Given the description of an element on the screen output the (x, y) to click on. 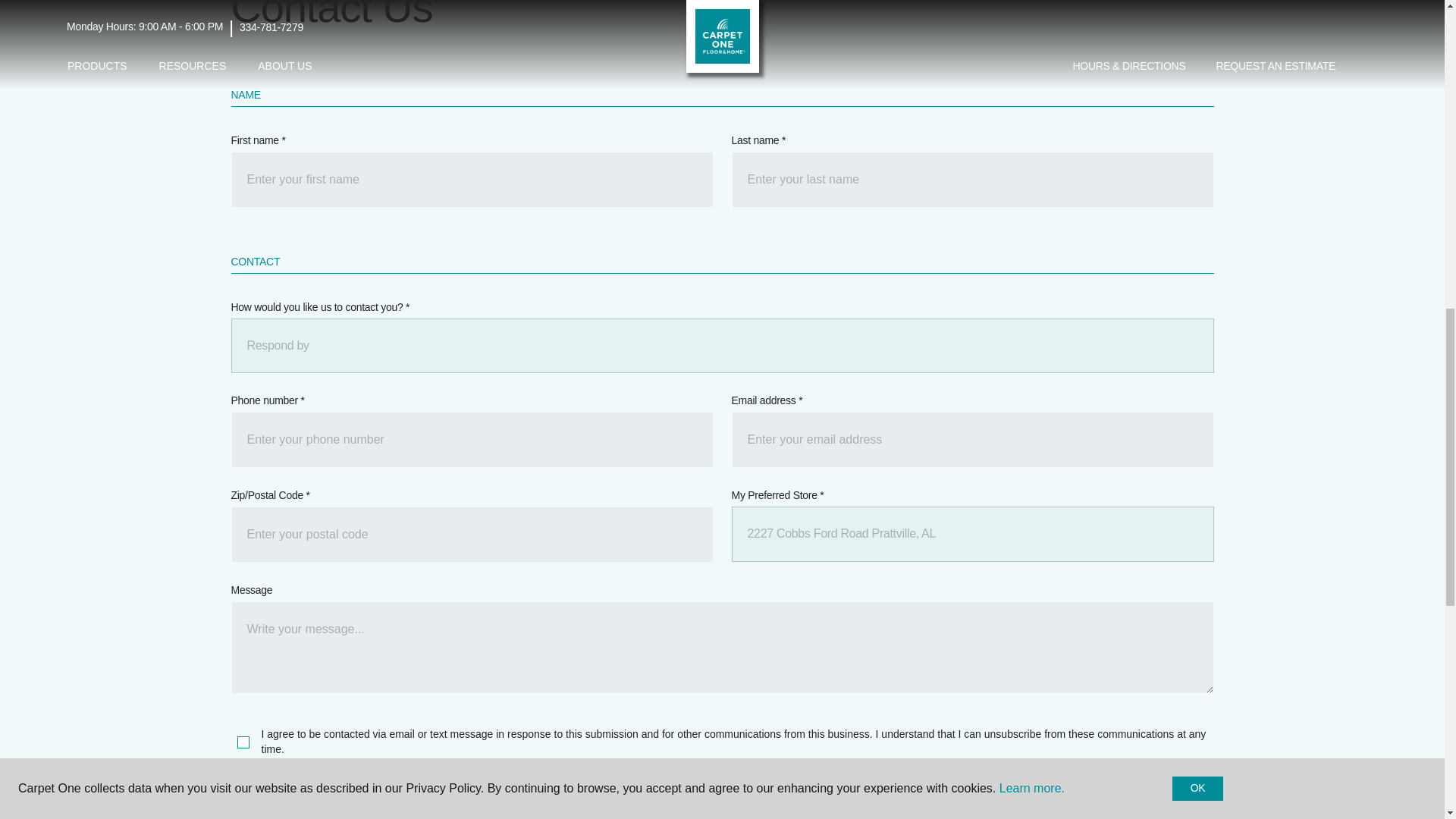
MyMessage (721, 647)
PostalCode (471, 534)
LastName (971, 179)
FirstName (471, 179)
CleanHomePhone (471, 439)
EmailAddress (971, 439)
